Given the description of an element on the screen output the (x, y) to click on. 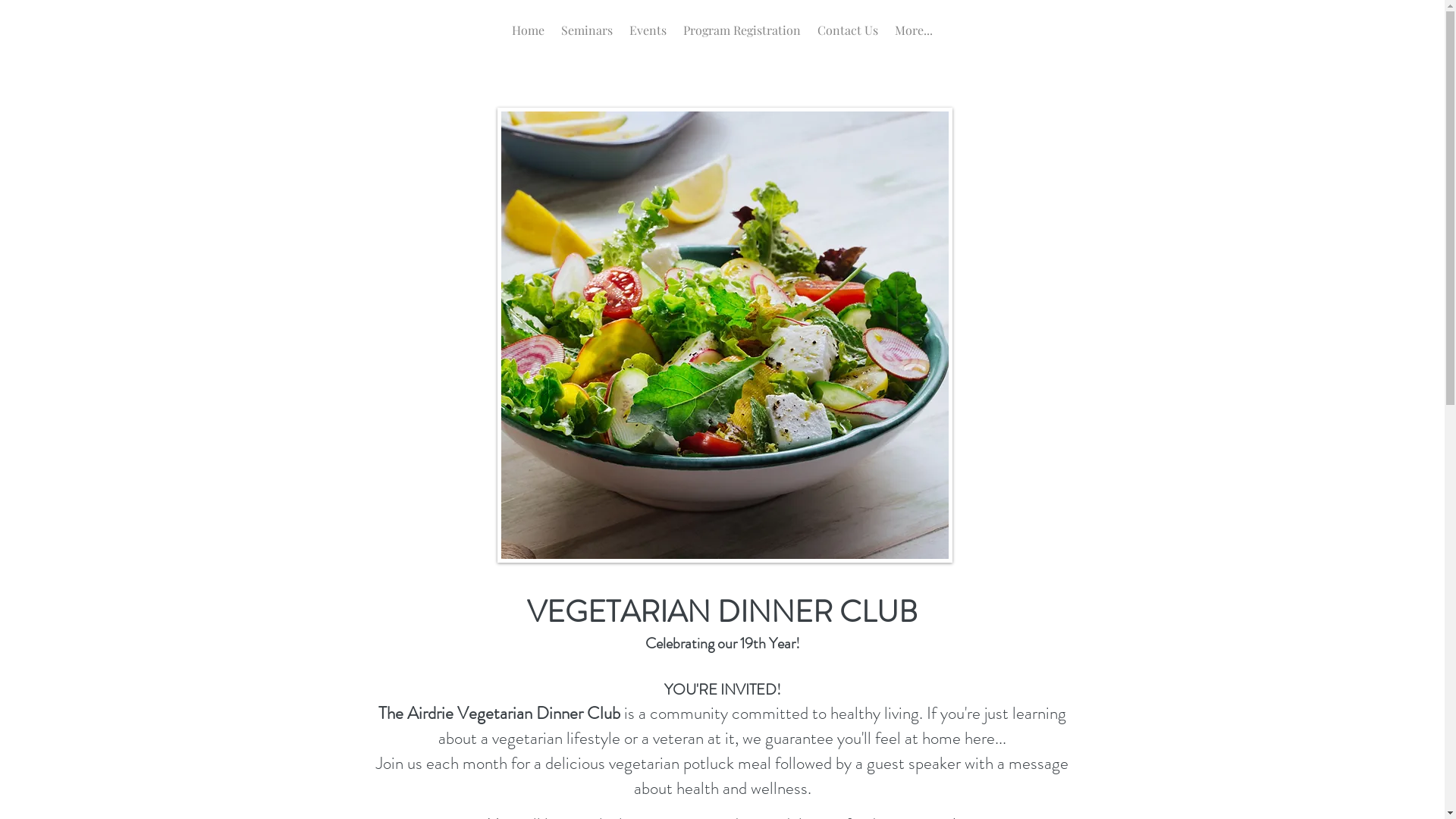
Home Element type: text (527, 35)
Program Registration Element type: text (741, 35)
Contact Us Element type: text (847, 35)
